Given the description of an element on the screen output the (x, y) to click on. 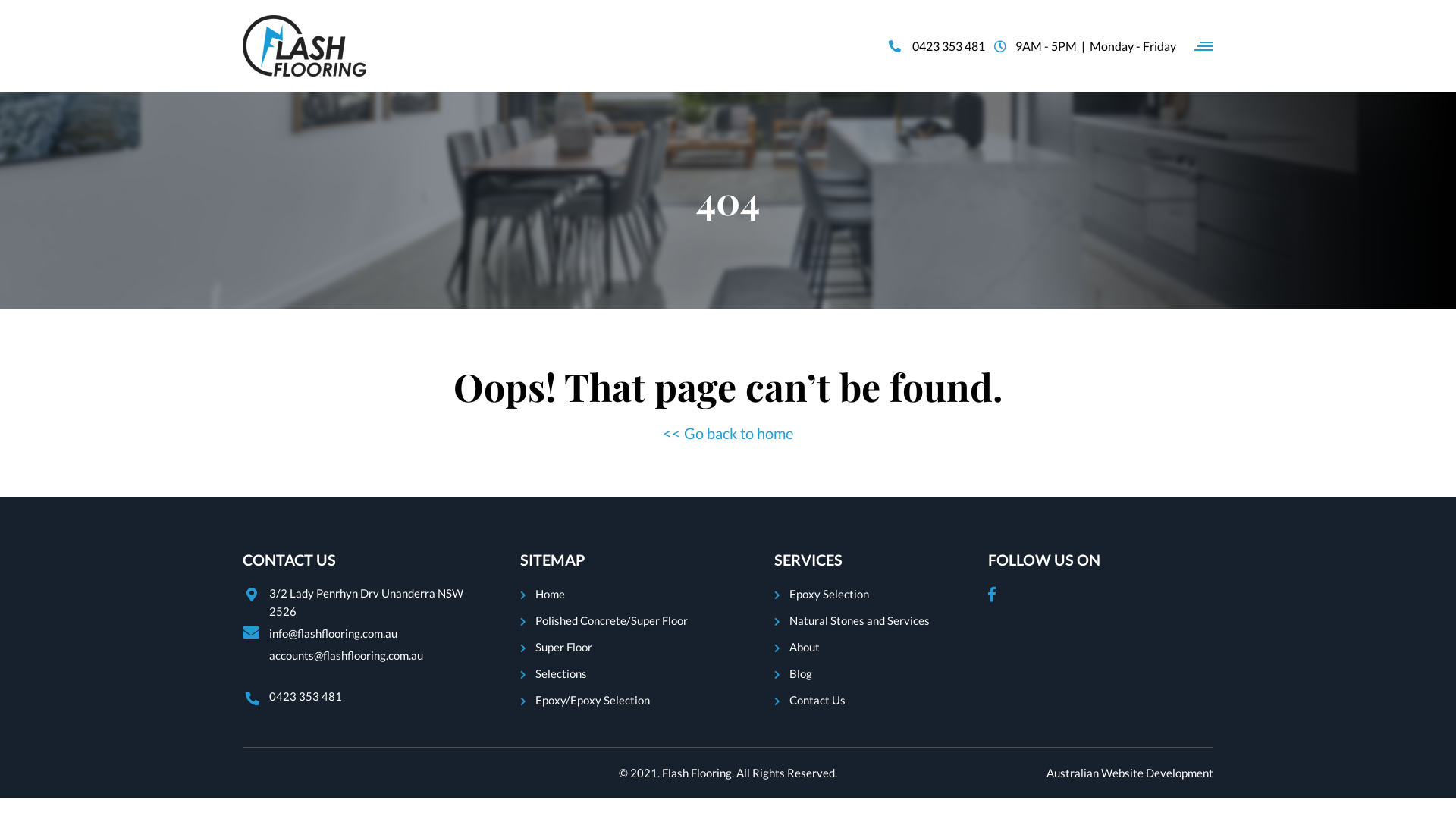
Blog Element type: text (800, 673)
Selections Element type: text (560, 673)
0423 353 481 Element type: text (355, 696)
0423 353 481 Element type: text (936, 46)
info@flashflooring.com.au Element type: text (346, 633)
3/2 Lady Penrhyn Drv Unanderra NSW 2526 Element type: text (355, 601)
Epoxy/Epoxy Selection Element type: text (592, 699)
Home Element type: text (549, 593)
About Element type: text (804, 646)
<< Go back to home Element type: text (727, 432)
Epoxy Selection Element type: text (829, 593)
Contact Us Element type: text (817, 699)
Super Floor Element type: text (563, 646)
accounts@flashflooring.com.au Element type: text (346, 655)
Natural Stones and Services Element type: text (859, 620)
Australian Website Development Element type: text (1129, 772)
Polished Concrete/Super Floor Element type: text (611, 620)
